Given the description of an element on the screen output the (x, y) to click on. 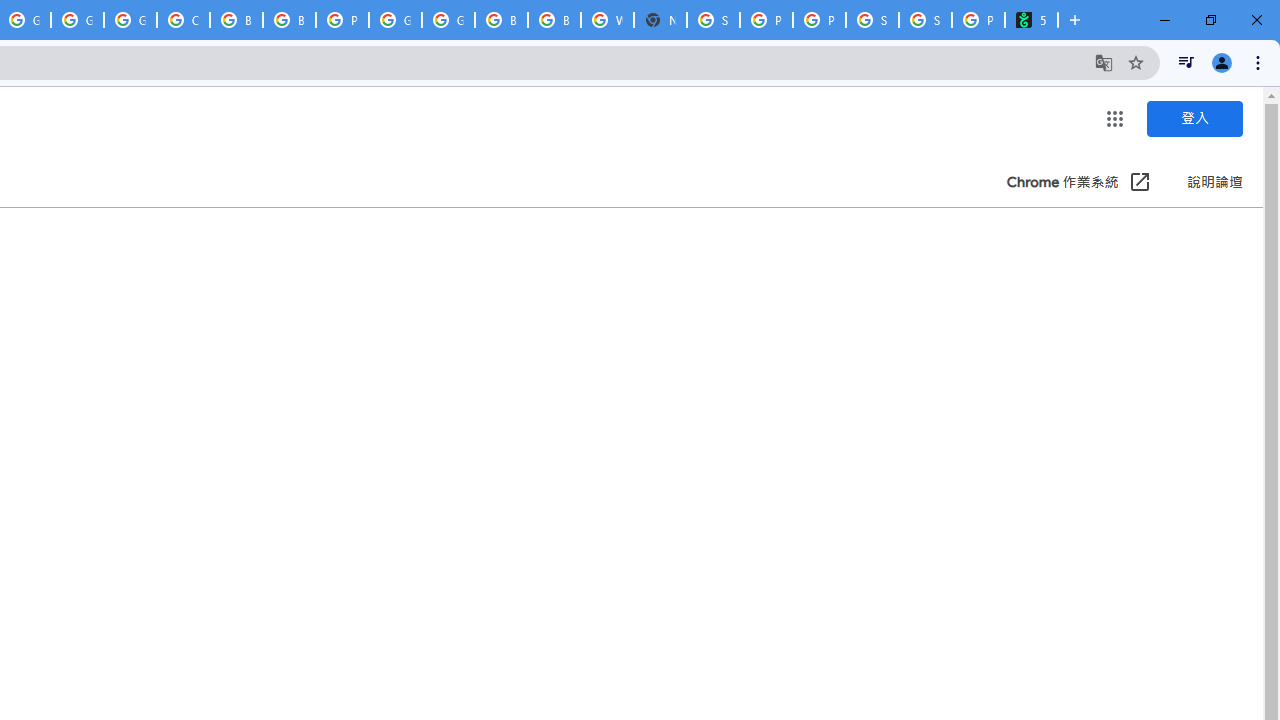
Google Cloud Platform (448, 20)
New Tab (660, 20)
Browse Chrome as a guest - Computer - Google Chrome Help (501, 20)
